Given the description of an element on the screen output the (x, y) to click on. 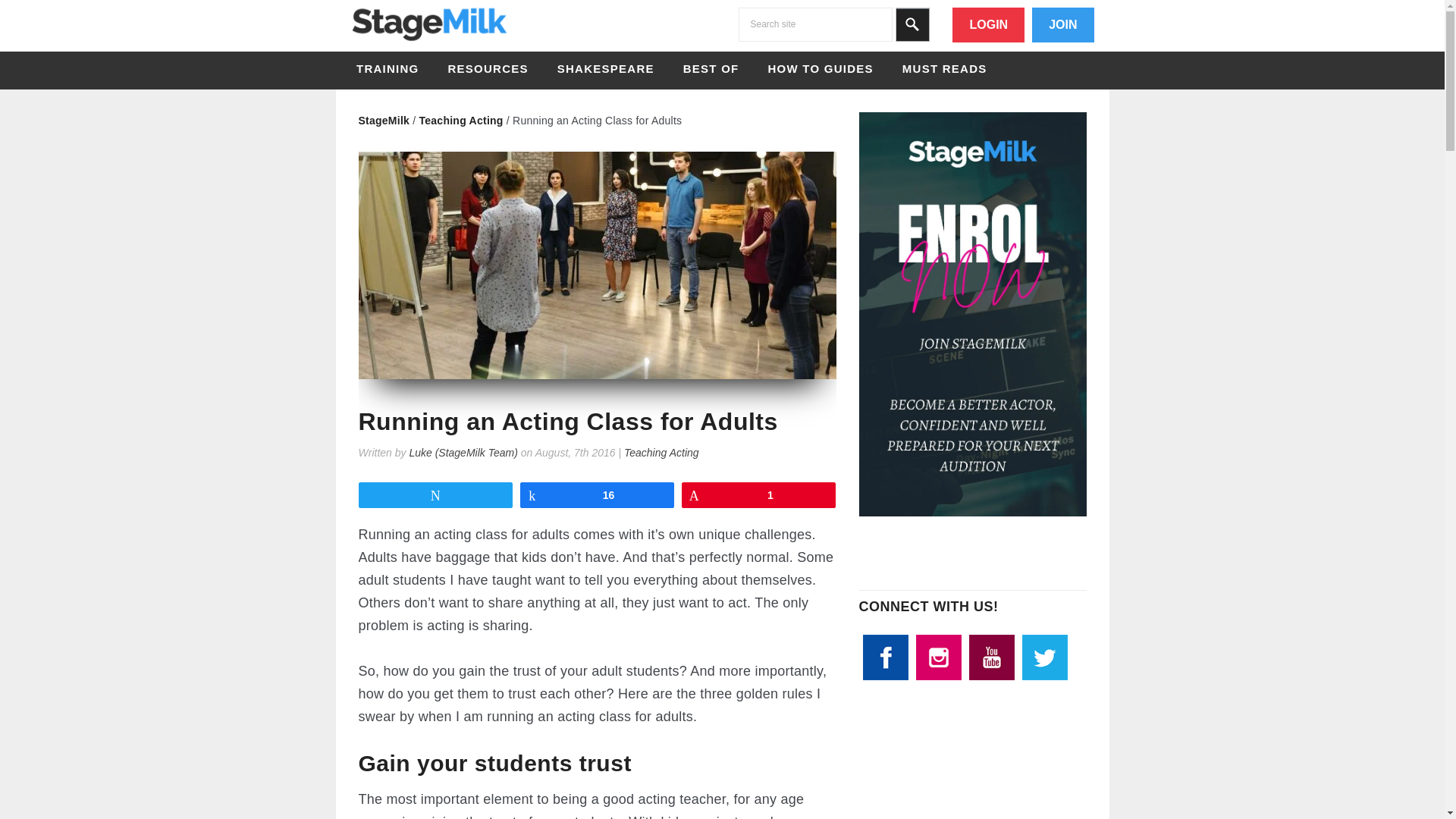
StageMilk (428, 41)
JOIN (1062, 24)
BEST OF (711, 68)
Search site (815, 24)
RESOURCES (487, 68)
TRAINING (387, 68)
LOGIN (988, 24)
SHAKESPEARE (606, 68)
